Given the description of an element on the screen output the (x, y) to click on. 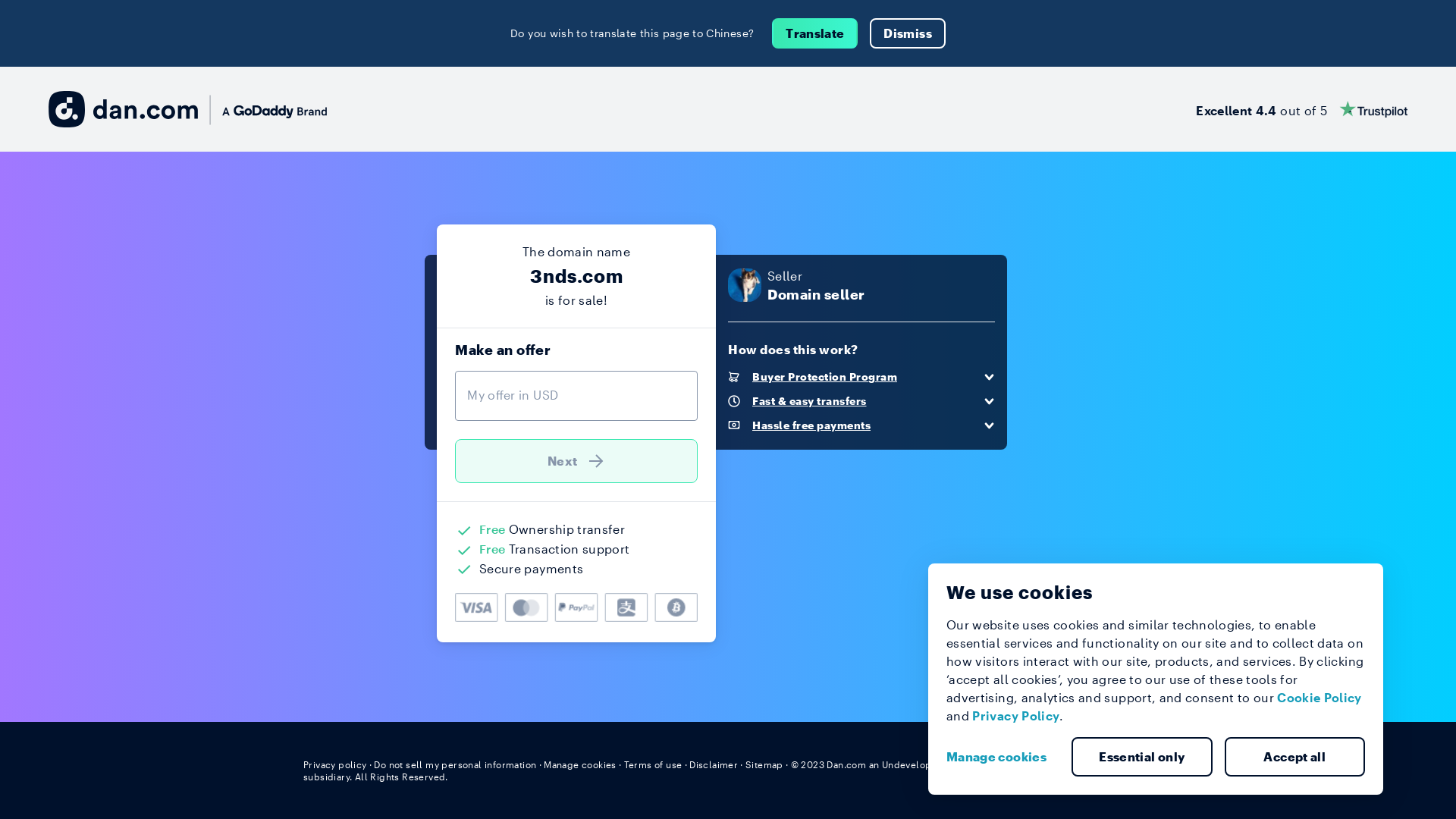
Sitemap Element type: text (764, 764)
Translate Element type: text (814, 33)
Dismiss Element type: text (906, 33)
Privacy policy Element type: text (335, 764)
Disclaimer Element type: text (713, 764)
English Element type: text (1124, 764)
Manage cookies Element type: text (579, 764)
Privacy Policy Element type: text (1015, 715)
Excellent 4.4 out of 5 Element type: text (1301, 109)
Terms of use Element type: text (653, 764)
Accept all Element type: text (1294, 756)
Essential only Element type: text (1141, 756)
Cookie Policy Element type: text (1319, 697)
Manage cookies Element type: text (1002, 756)
Next
) Element type: text (576, 461)
Do not sell my personal information Element type: text (454, 764)
